Given the description of an element on the screen output the (x, y) to click on. 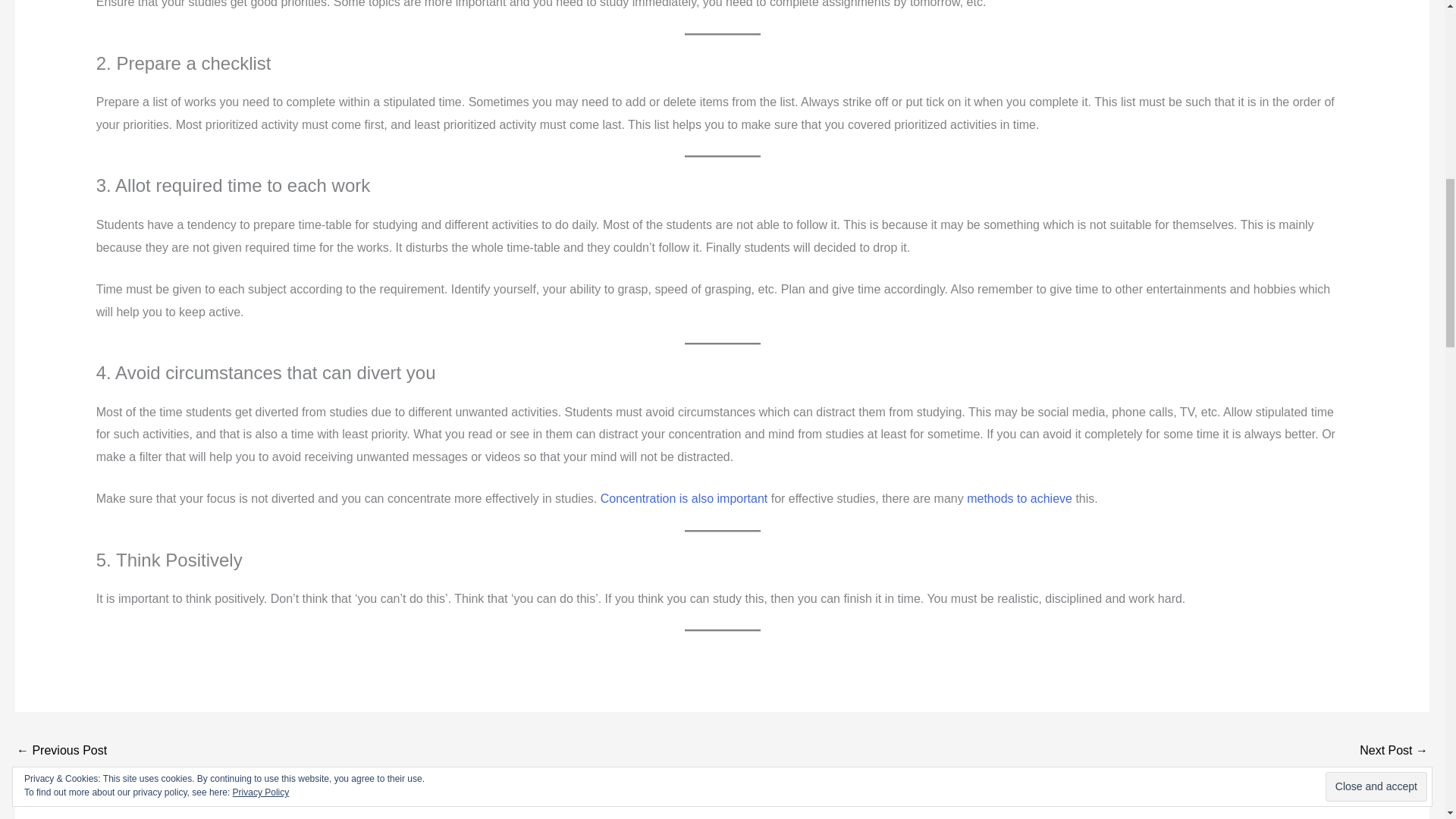
methods to achieve (1018, 498)
Categories for your personal budget (61, 751)
Career in Insurance (1393, 751)
Concentration is also important (683, 498)
